Given the description of an element on the screen output the (x, y) to click on. 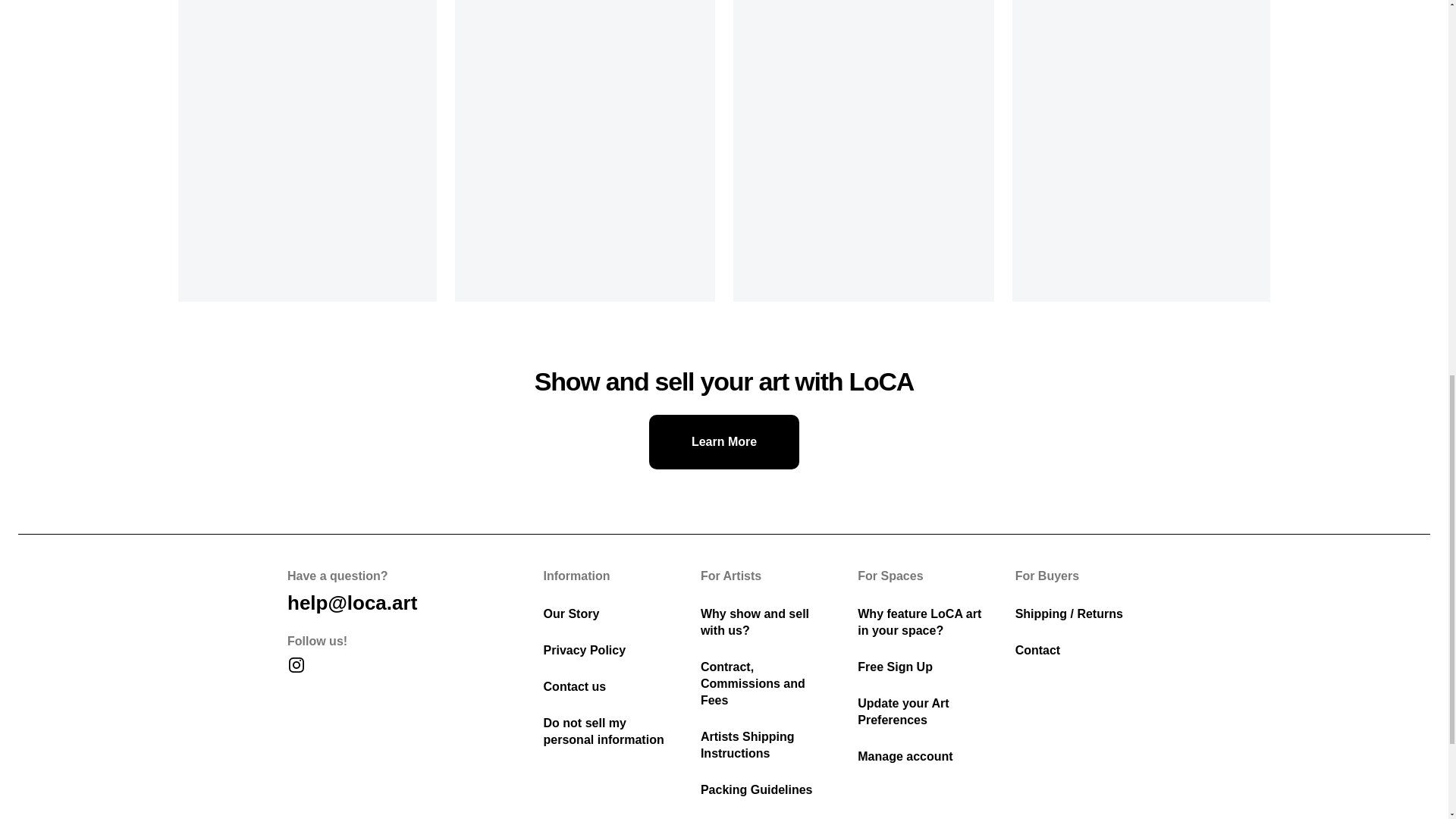
Learn More (724, 441)
Contact us (351, 602)
